Given the description of an element on the screen output the (x, y) to click on. 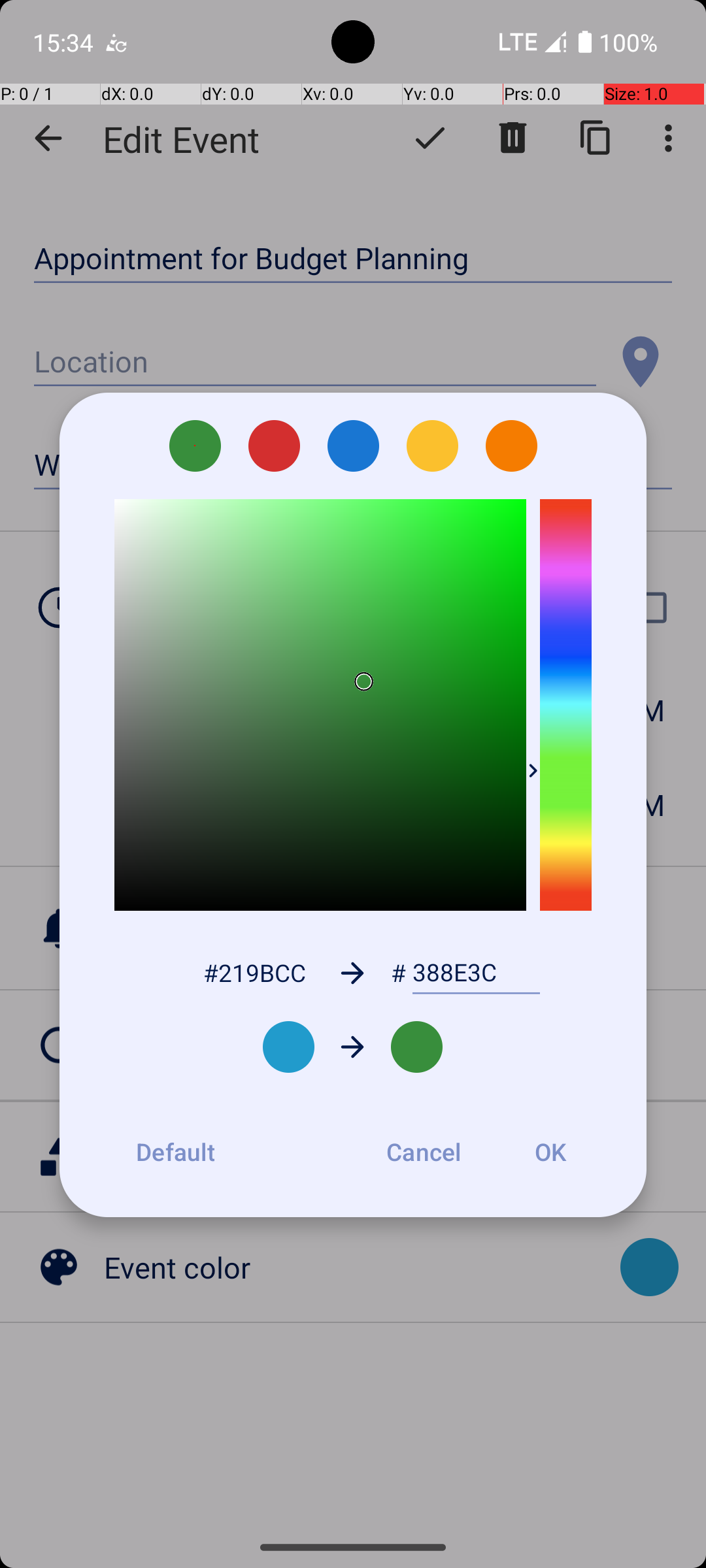
#219BCC Element type: android.widget.TextView (254, 972)
388E3C Element type: android.widget.EditText (475, 972)
Default Element type: android.widget.Button (174, 1151)
